Given the description of an element on the screen output the (x, y) to click on. 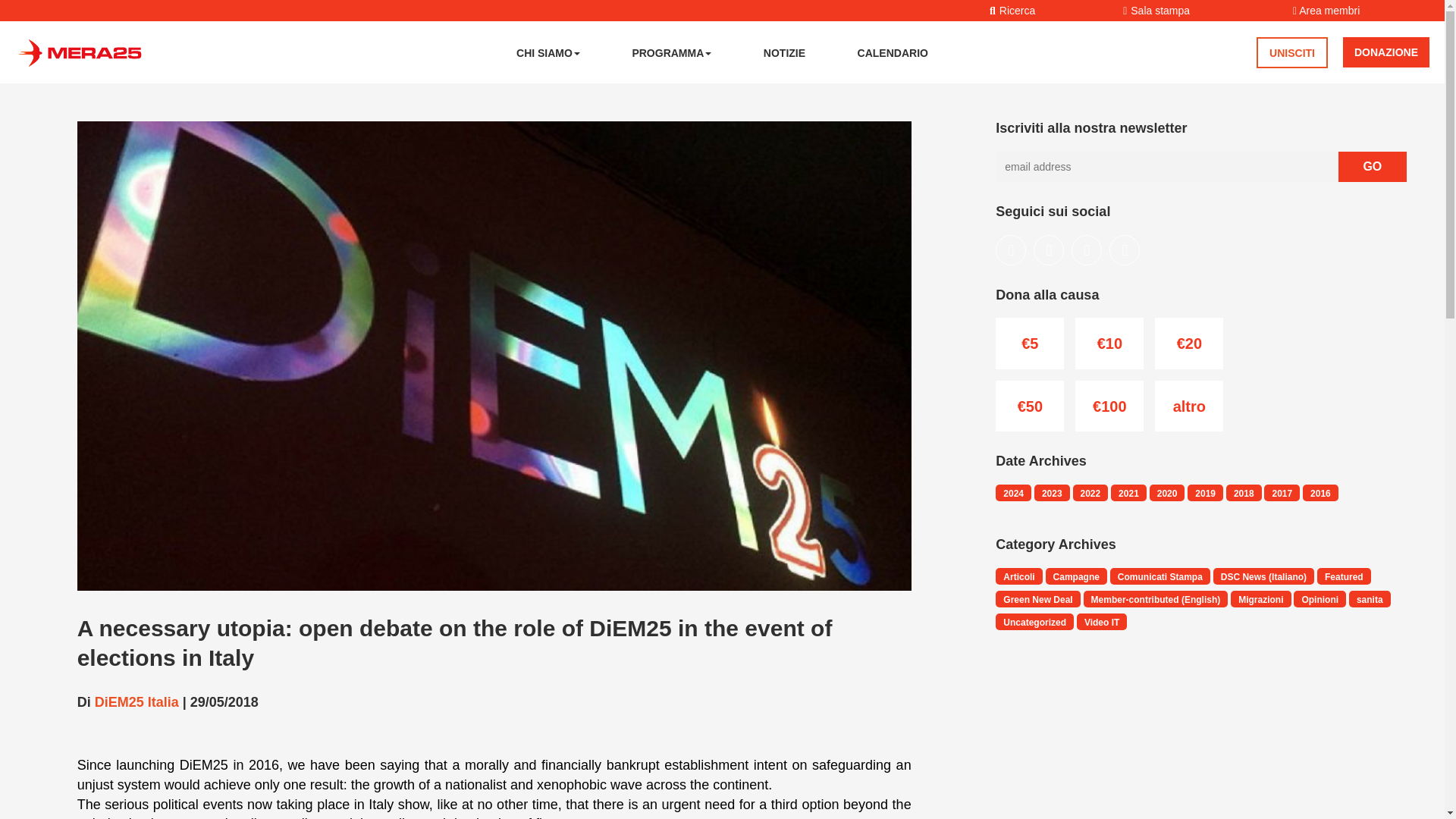
Posts by DiEM25 Italia (136, 702)
DiEM25 Italia (136, 702)
CHI SIAMO (547, 52)
Ricerca (1005, 9)
2024 (1013, 493)
GO (1372, 166)
UNISCITI (1291, 51)
altro (1188, 406)
Radicale, realista, ribelle! (79, 48)
CALENDARIO (892, 52)
PROGRAMMA (671, 52)
GO (1372, 166)
DONAZIONE (1385, 51)
Sala stampa (1155, 9)
